Given the description of an element on the screen output the (x, y) to click on. 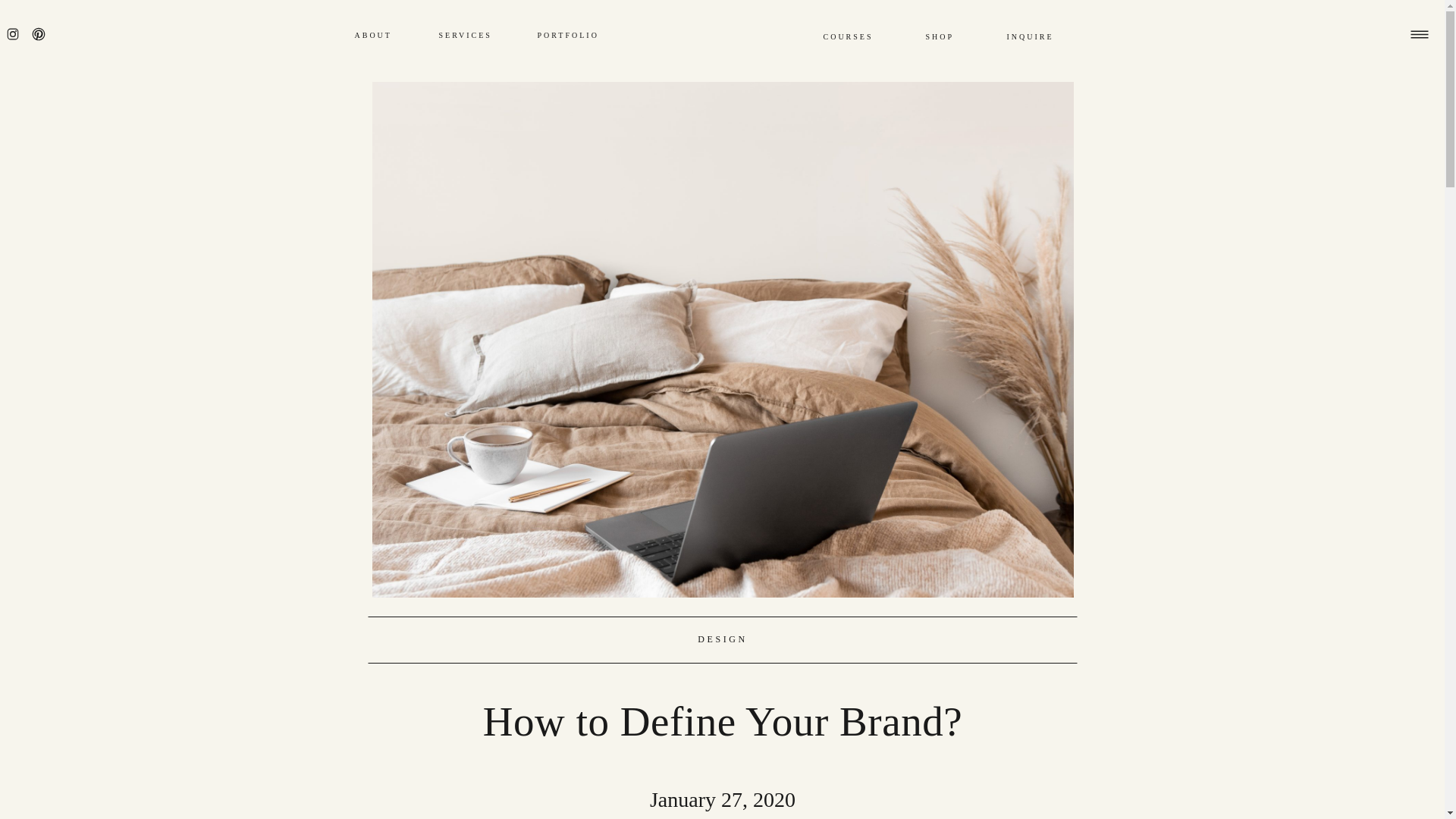
ABOUT (390, 34)
SERVICES (473, 34)
PORTFOLIO (572, 34)
INQUIRE (1042, 36)
COURSES (867, 36)
DESIGN (722, 638)
SHOP (959, 36)
